Given the description of an element on the screen output the (x, y) to click on. 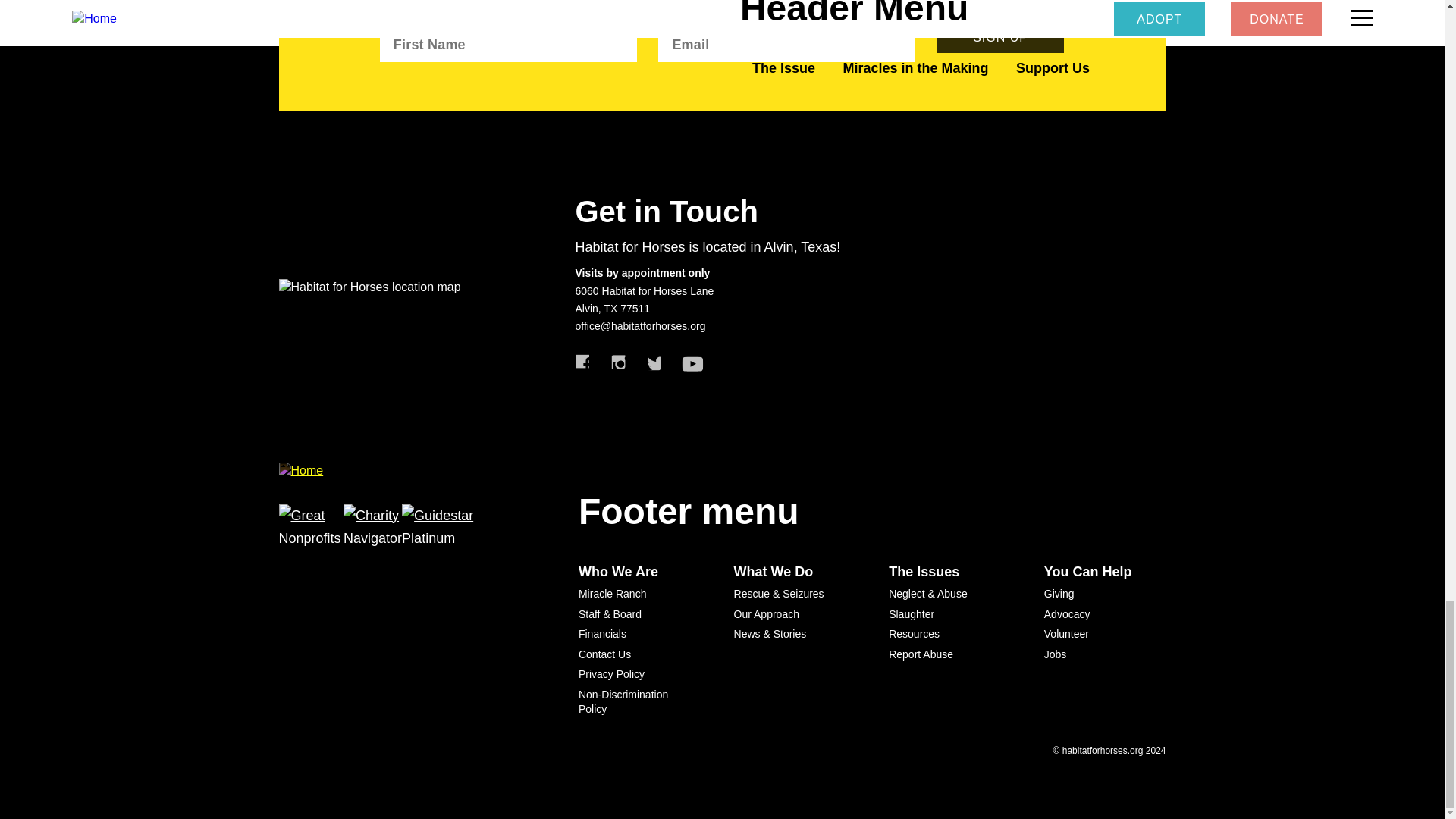
Sign Up (1000, 36)
